Given the description of an element on the screen output the (x, y) to click on. 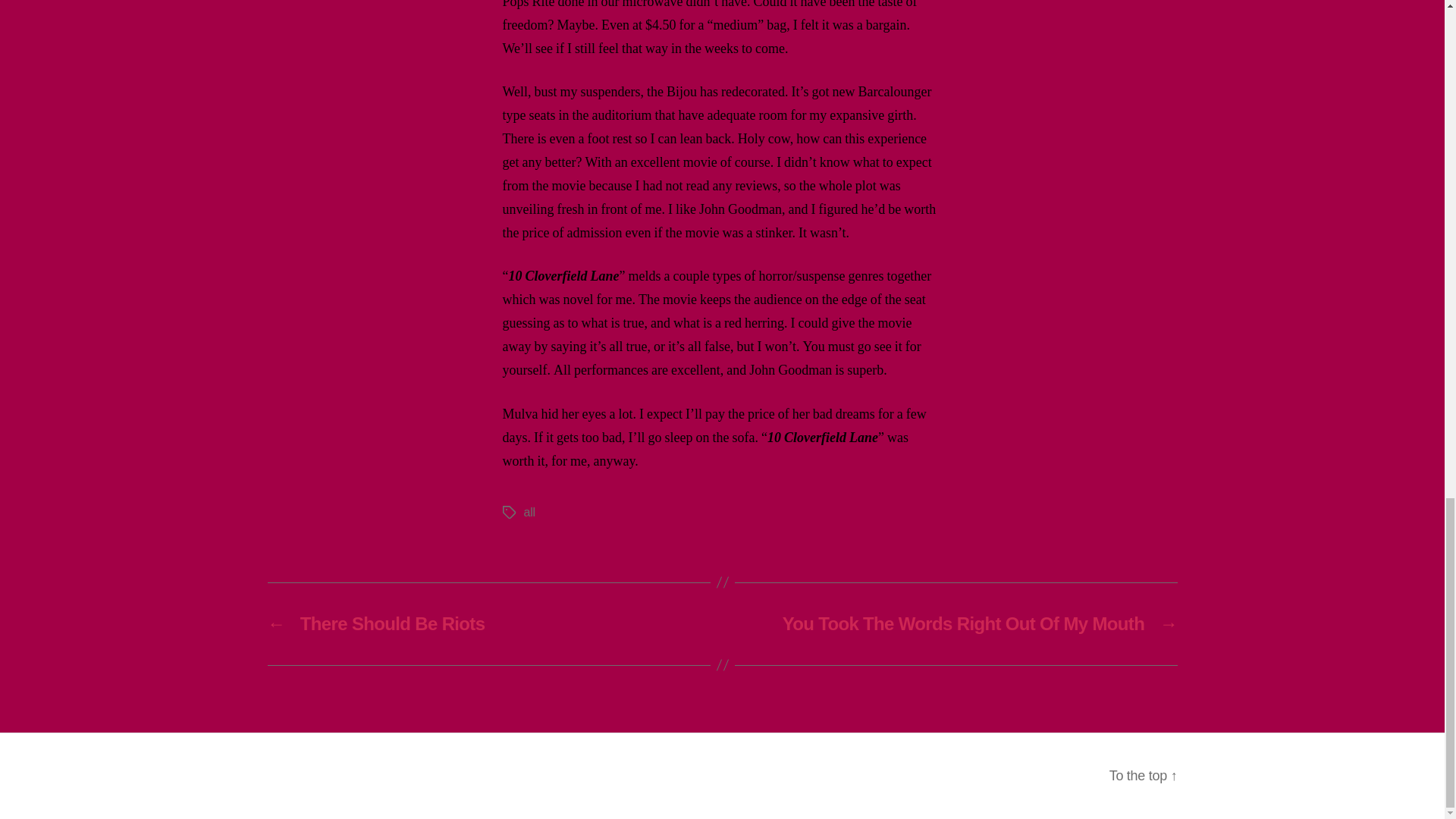
Tales From The Trailer Park (400, 775)
